Given the description of an element on the screen output the (x, y) to click on. 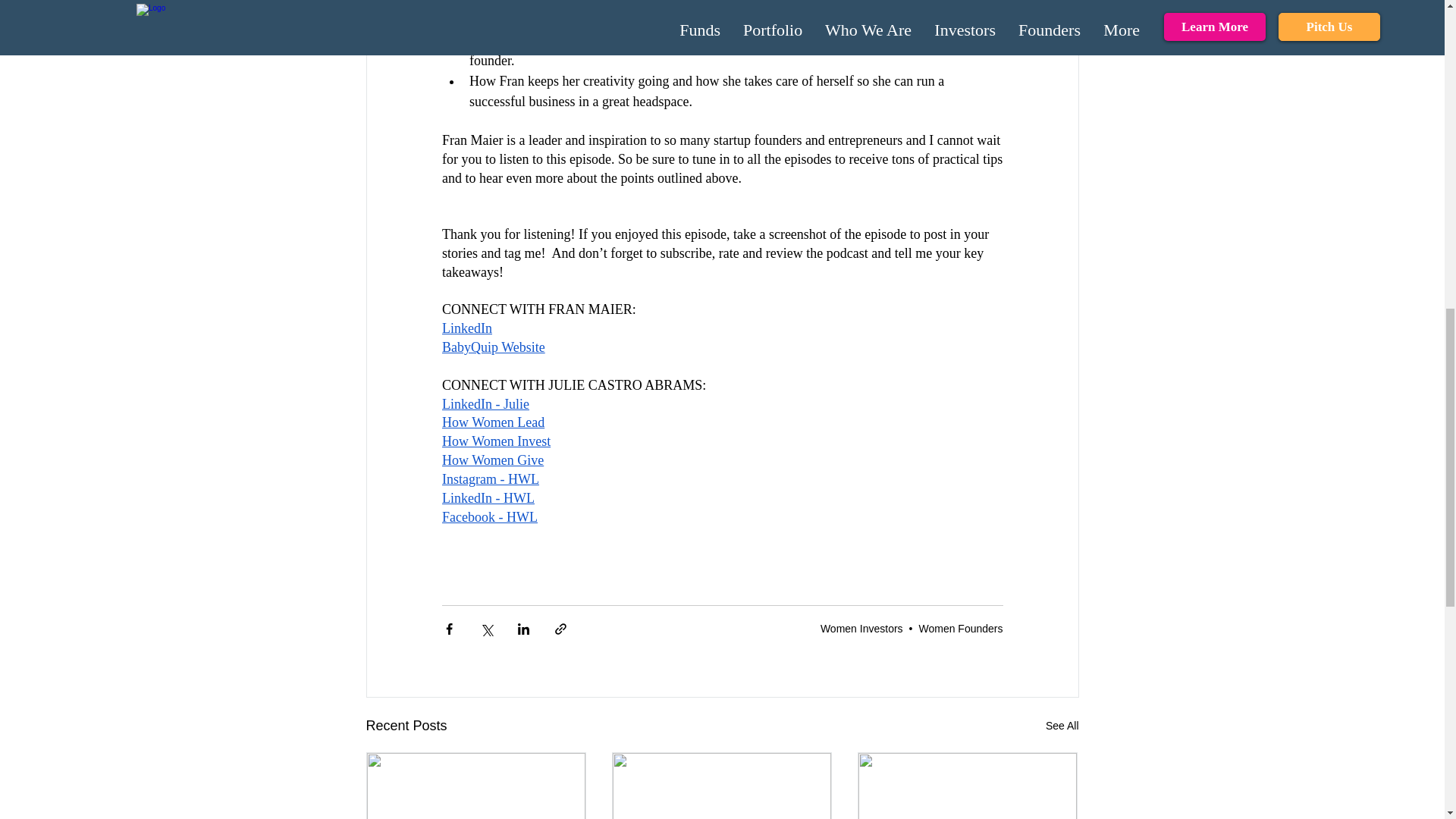
LinkedIn (466, 328)
How Women Lead (492, 421)
How Women Give (492, 459)
Facebook - HWL (489, 516)
LinkedIn - HWL (487, 498)
Instagram - HWL (489, 478)
BabyQuip Website (492, 346)
How Women Invest (495, 441)
LinkedIn - Julie (484, 403)
